Given the description of an element on the screen output the (x, y) to click on. 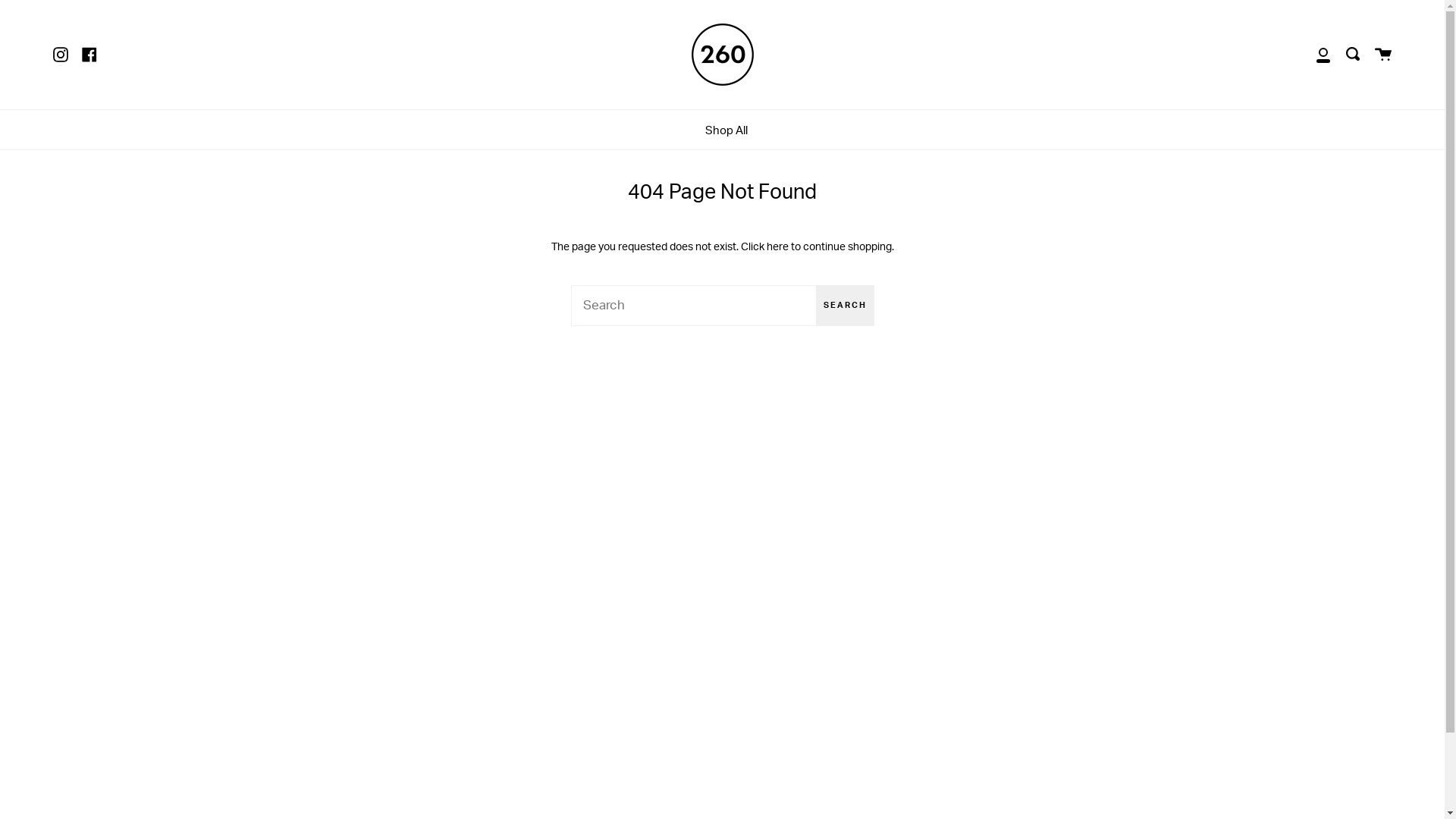
Shop All Element type: text (726, 130)
Search Element type: text (1352, 54)
My Account Element type: text (1322, 54)
here Element type: text (776, 246)
Cart Element type: text (1382, 54)
SEARCH Element type: text (844, 305)
Instagram Element type: text (60, 54)
Facebook Element type: text (89, 54)
